Given the description of an element on the screen output the (x, y) to click on. 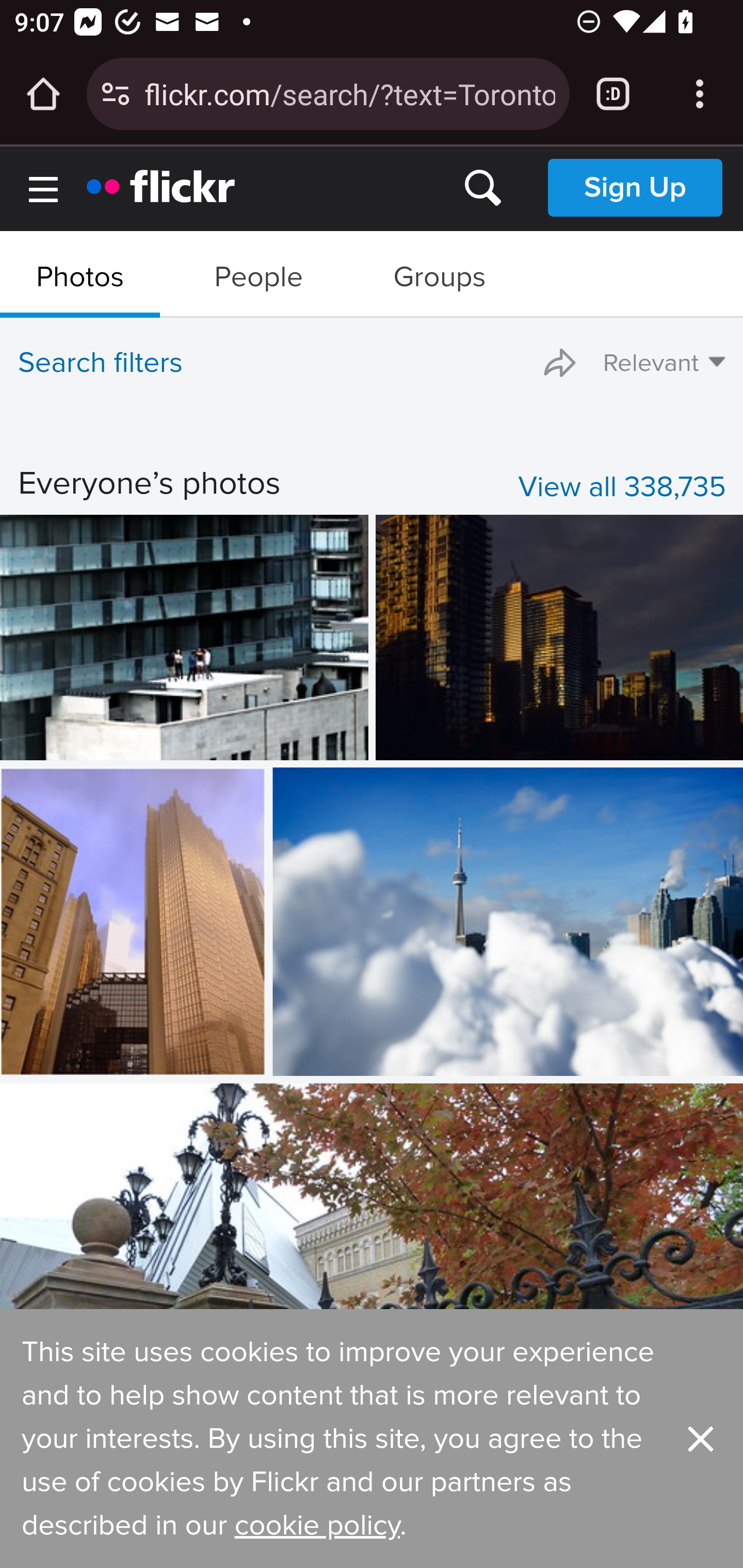
Open the home page (43, 93)
Connection is secure (115, 93)
Switch or close tabs (612, 93)
Customize and control Google Chrome (699, 93)
flickr.com/search/?text=Toronto (349, 92)
Sign Up Sign Up Sign Up (634, 187)
Photos (80, 271)
People (258, 271)
Groups (439, 271)
Search filters (100, 362)
View all 338,735 (621, 488)
